Given the description of an element on the screen output the (x, y) to click on. 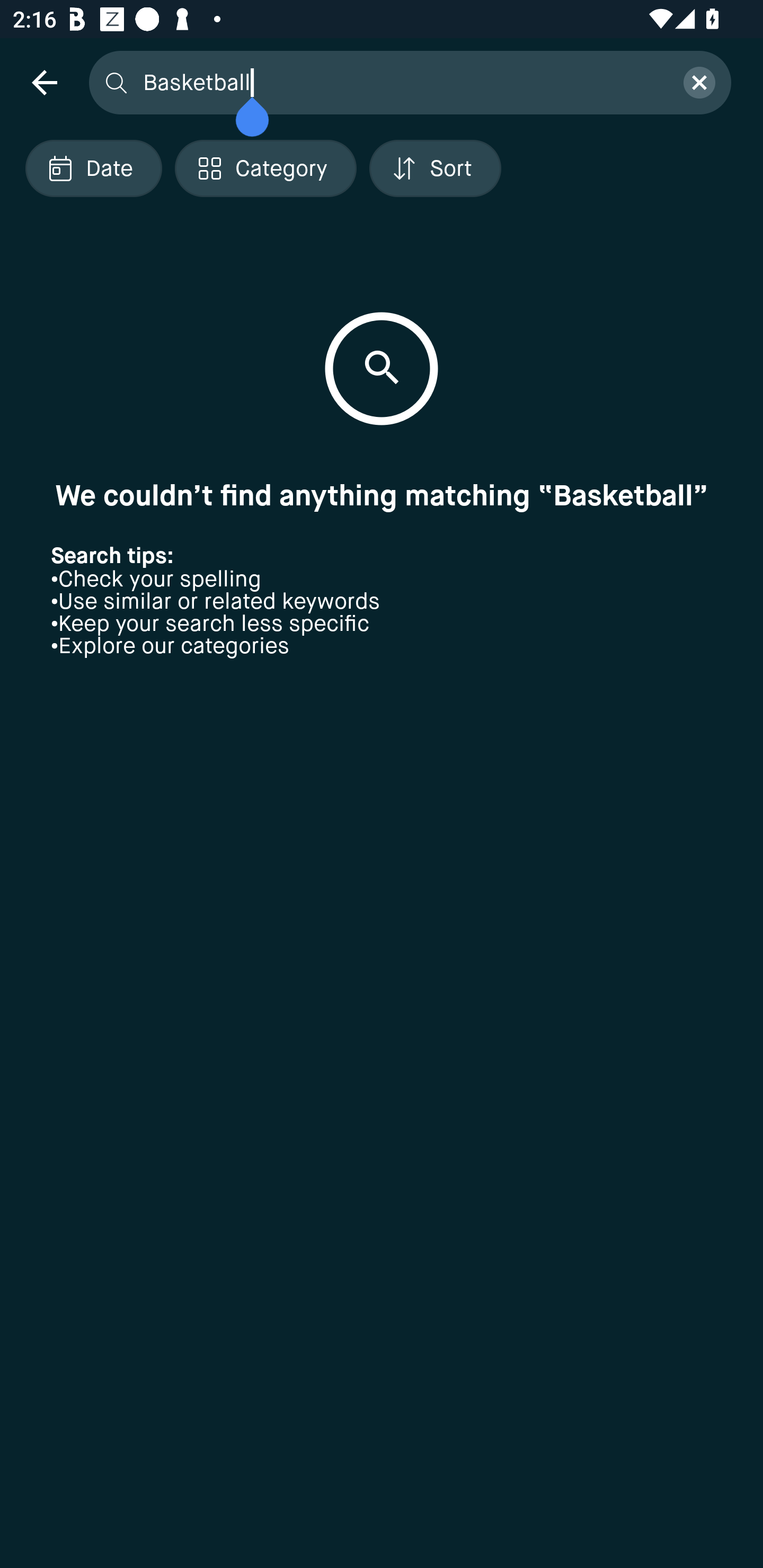
navigation icon (44, 81)
Basketball (402, 81)
Localized description Date (93, 168)
Localized description Category (265, 168)
Localized description Sort (435, 168)
We couldn’t find anything matching “Basketball” (381, 495)
